Given the description of an element on the screen output the (x, y) to click on. 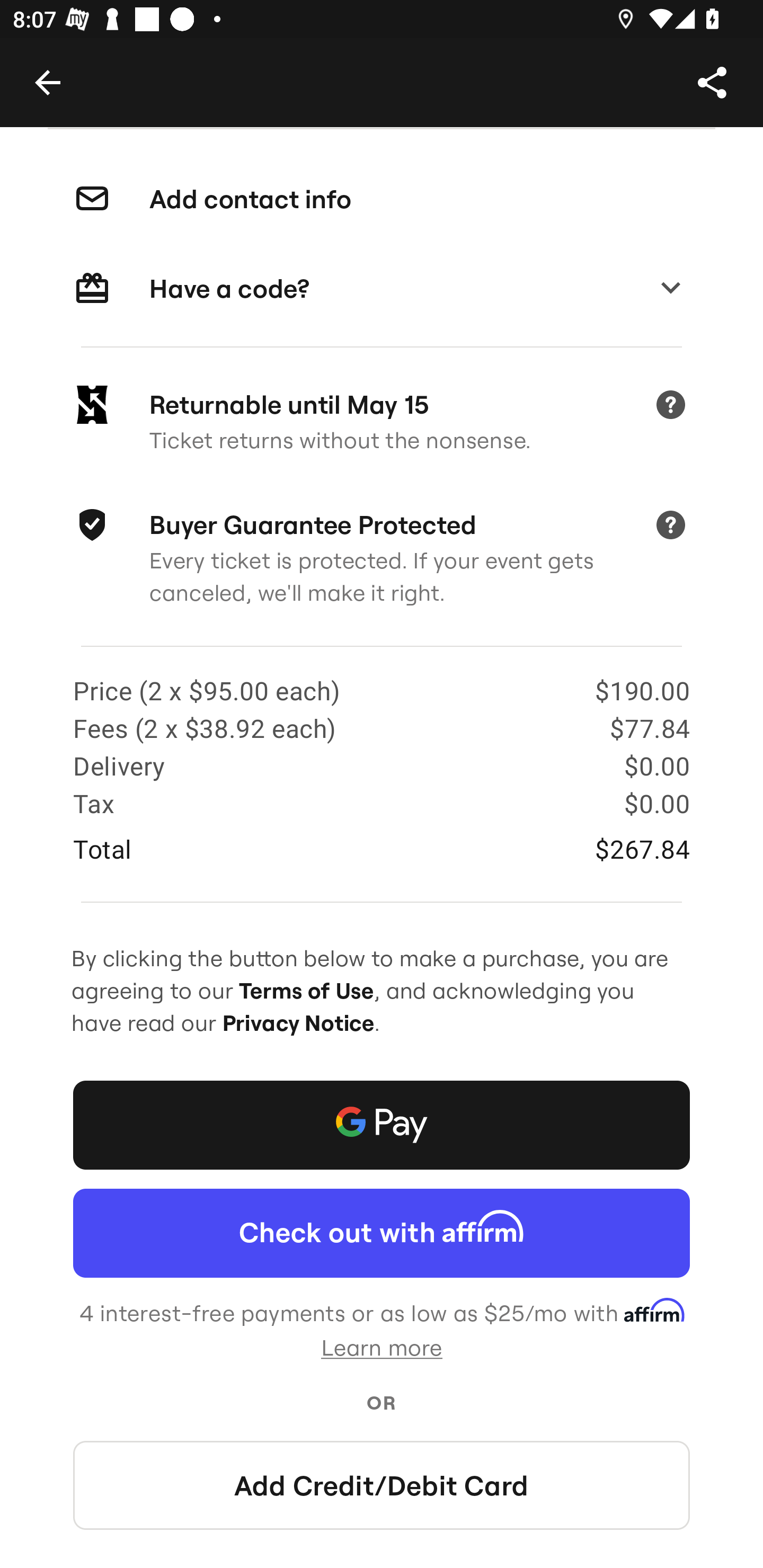
Back (47, 81)
Share (711, 81)
Add contact info (381, 199)
Have a code? Expand to show options (381, 288)
Buy with Google Pay (381, 1124)
Check out with Affirm Affirm (381, 1232)
Add Credit/Debit Card (381, 1485)
